Given the description of an element on the screen output the (x, y) to click on. 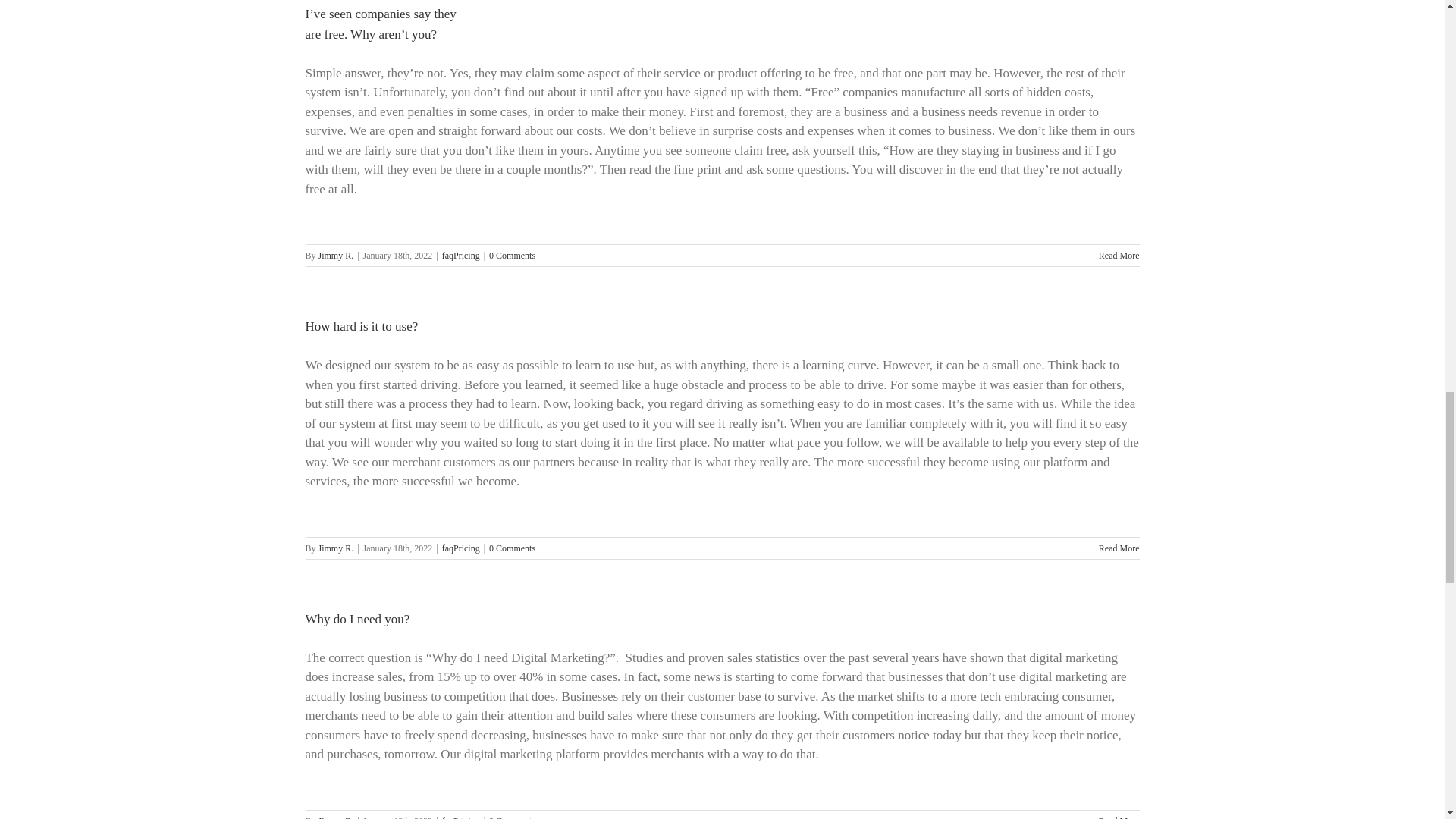
Posts by Jimmy R. (335, 817)
Posts by Jimmy R. (335, 255)
Posts by Jimmy R. (335, 547)
